Given the description of an element on the screen output the (x, y) to click on. 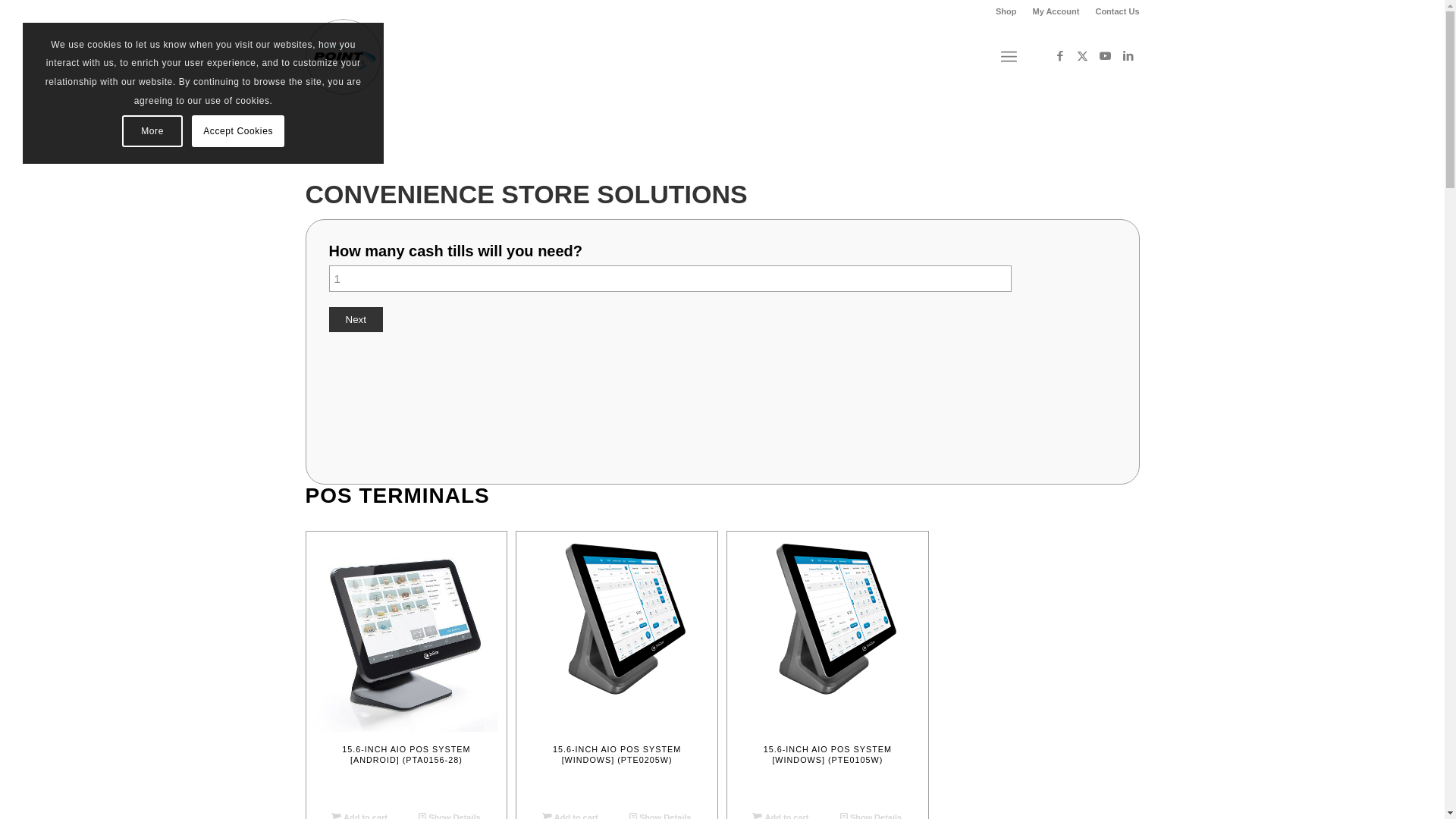
Twitter Element type: hover (1081, 55)
More Element type: text (152, 131)
My Account Element type: text (1055, 11)
Next Element type: text (355, 319)
15.6-INCH AIO POS SYSTEM [ANDROID] (PTA0156-28) Element type: text (405, 666)
Accept Cookies Element type: text (237, 131)
Shop Element type: text (1005, 11)
15.6-INCH AIO POS SYSTEM [WINDOWS] (PTE0205W) Element type: text (616, 666)
15.6-INCH AIO POS SYSTEM [WINDOWS] (PTE0105W) Element type: text (827, 666)
Contact Us Element type: text (1117, 11)
Youtube Element type: hover (1104, 55)
LinkedIn Element type: hover (1127, 55)
Facebook Element type: hover (1059, 55)
